Given the description of an element on the screen output the (x, y) to click on. 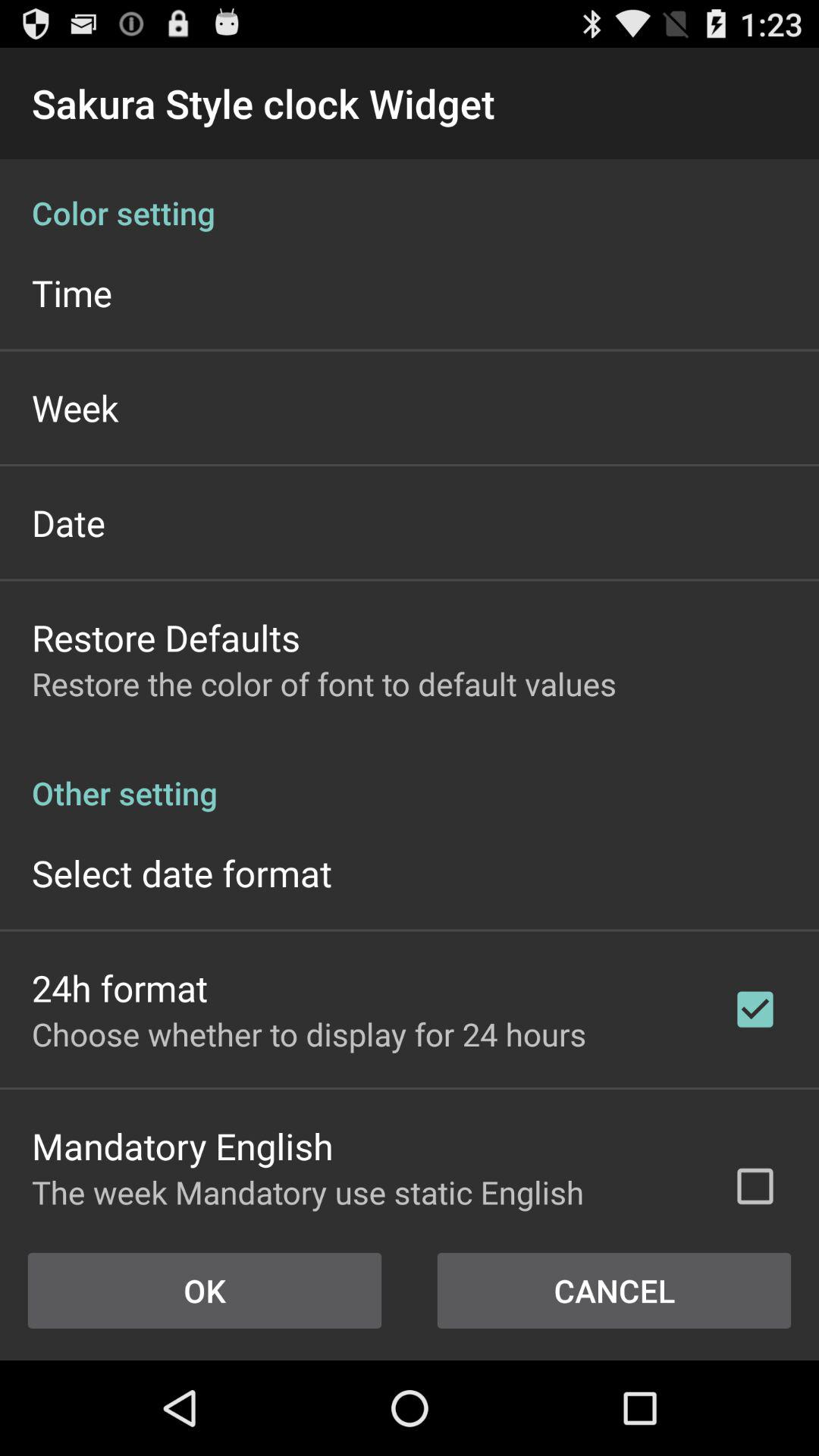
tap the button above ok button (361, 1195)
